Given the description of an element on the screen output the (x, y) to click on. 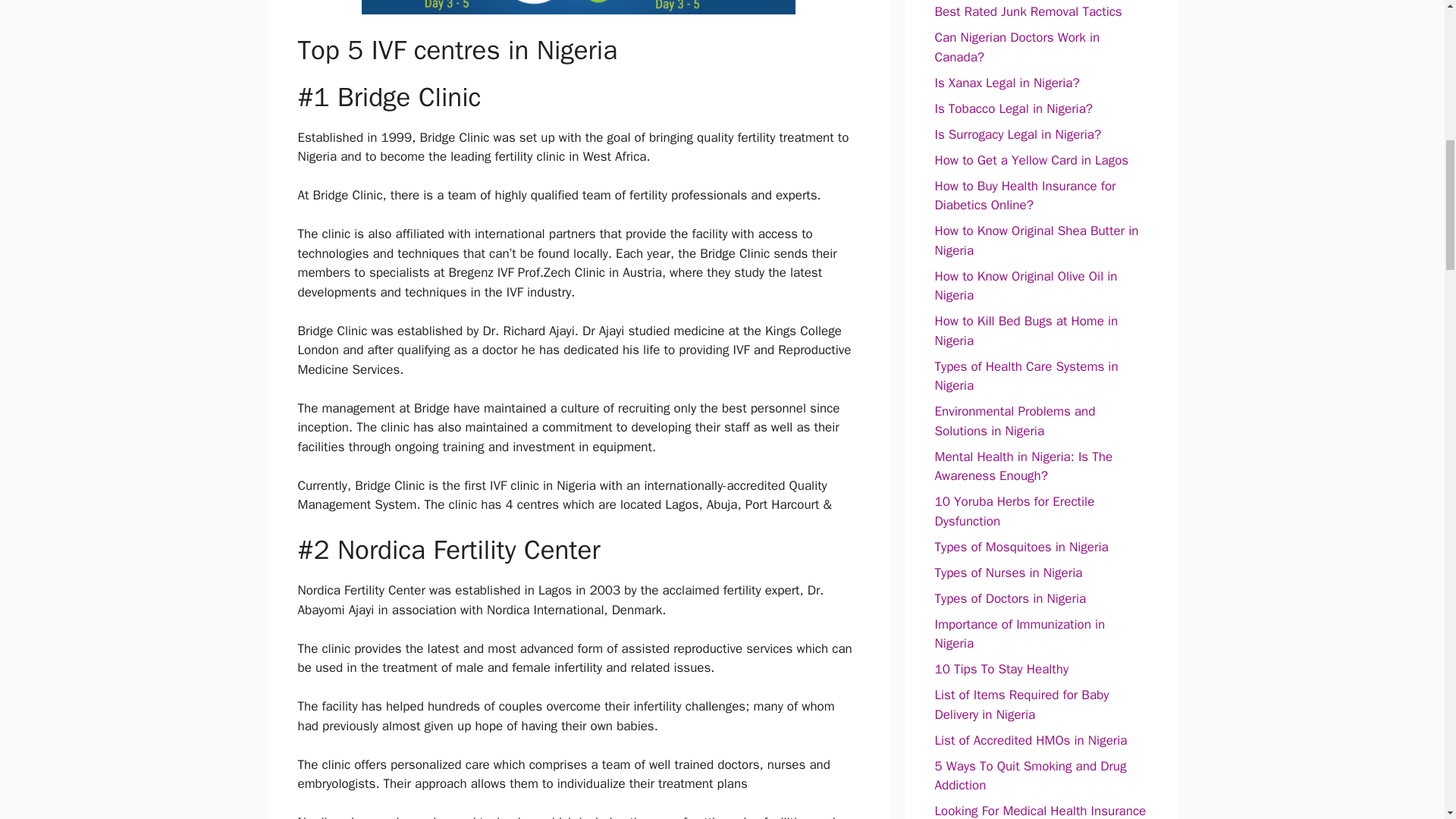
Can Nigerian Doctors Work in Canada? (1016, 47)
